Given the description of an element on the screen output the (x, y) to click on. 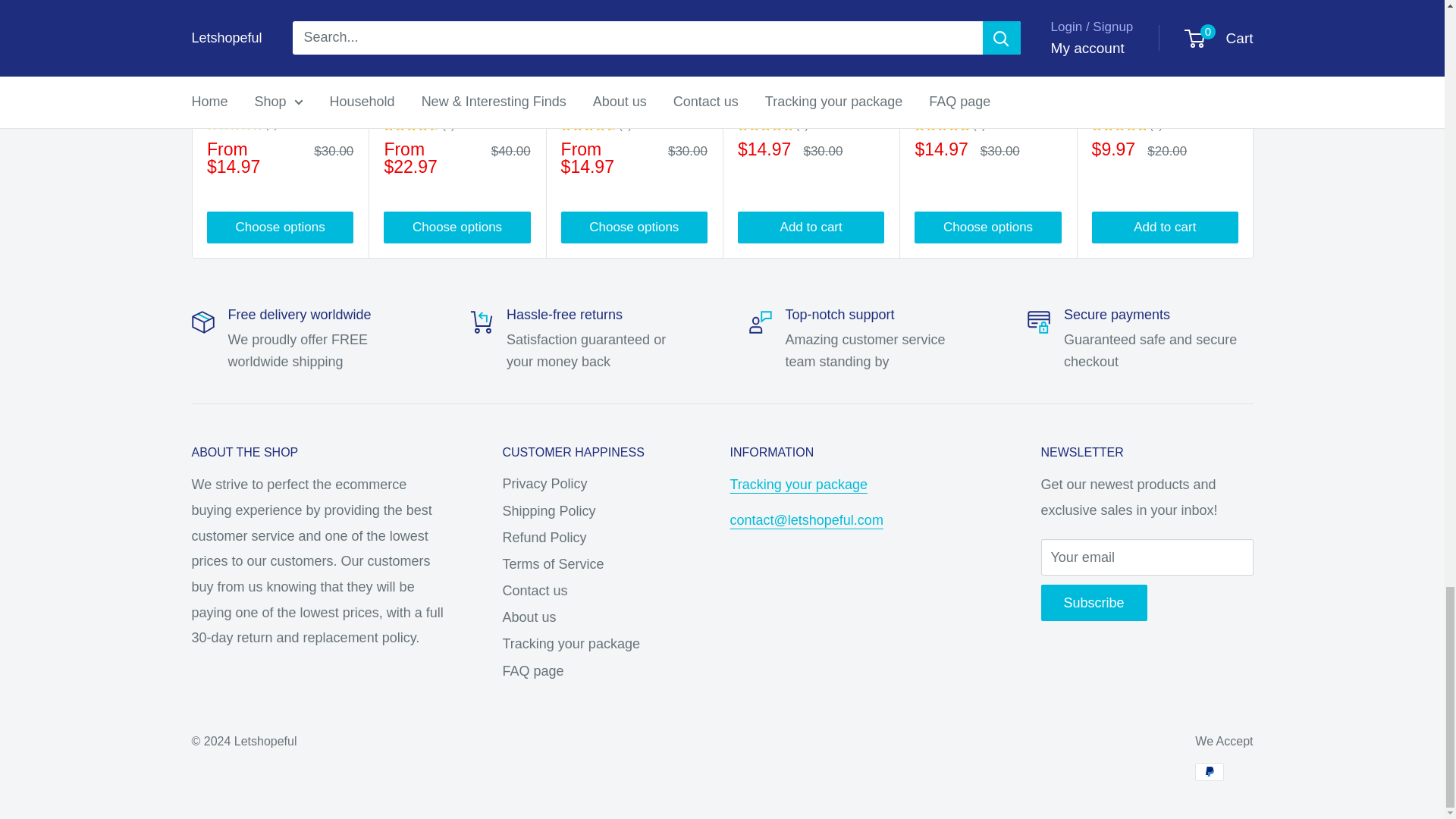
Tracking your package (797, 484)
Contact us (805, 519)
